Given the description of an element on the screen output the (x, y) to click on. 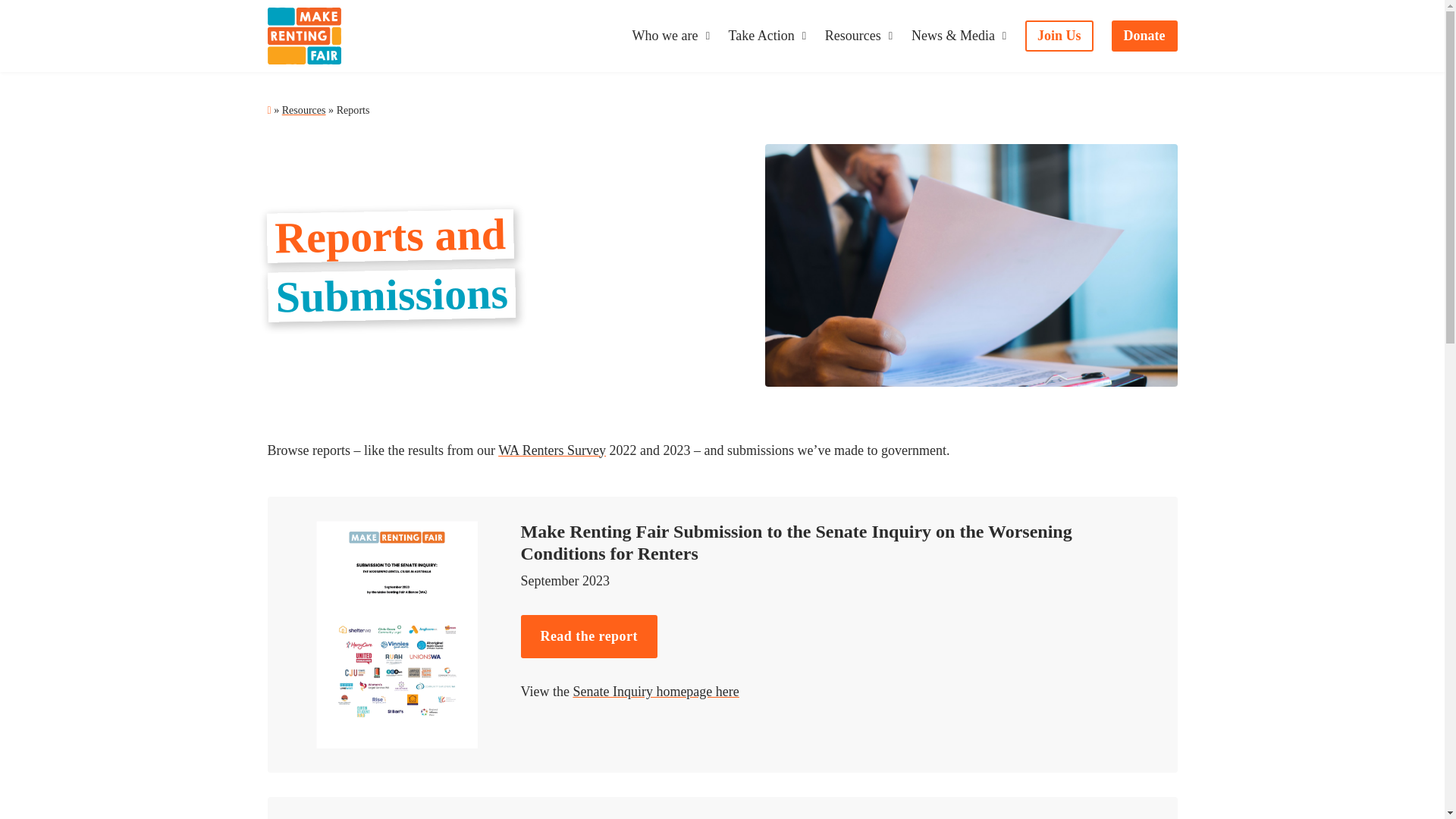
Senate Inquiry homepage here (655, 691)
Take Action (761, 35)
Resources (304, 110)
Read the report (587, 636)
Join Us (1059, 35)
Who we are (664, 35)
Resources (852, 35)
Donate (1144, 35)
WA Renters Survey (551, 450)
